Given the description of an element on the screen output the (x, y) to click on. 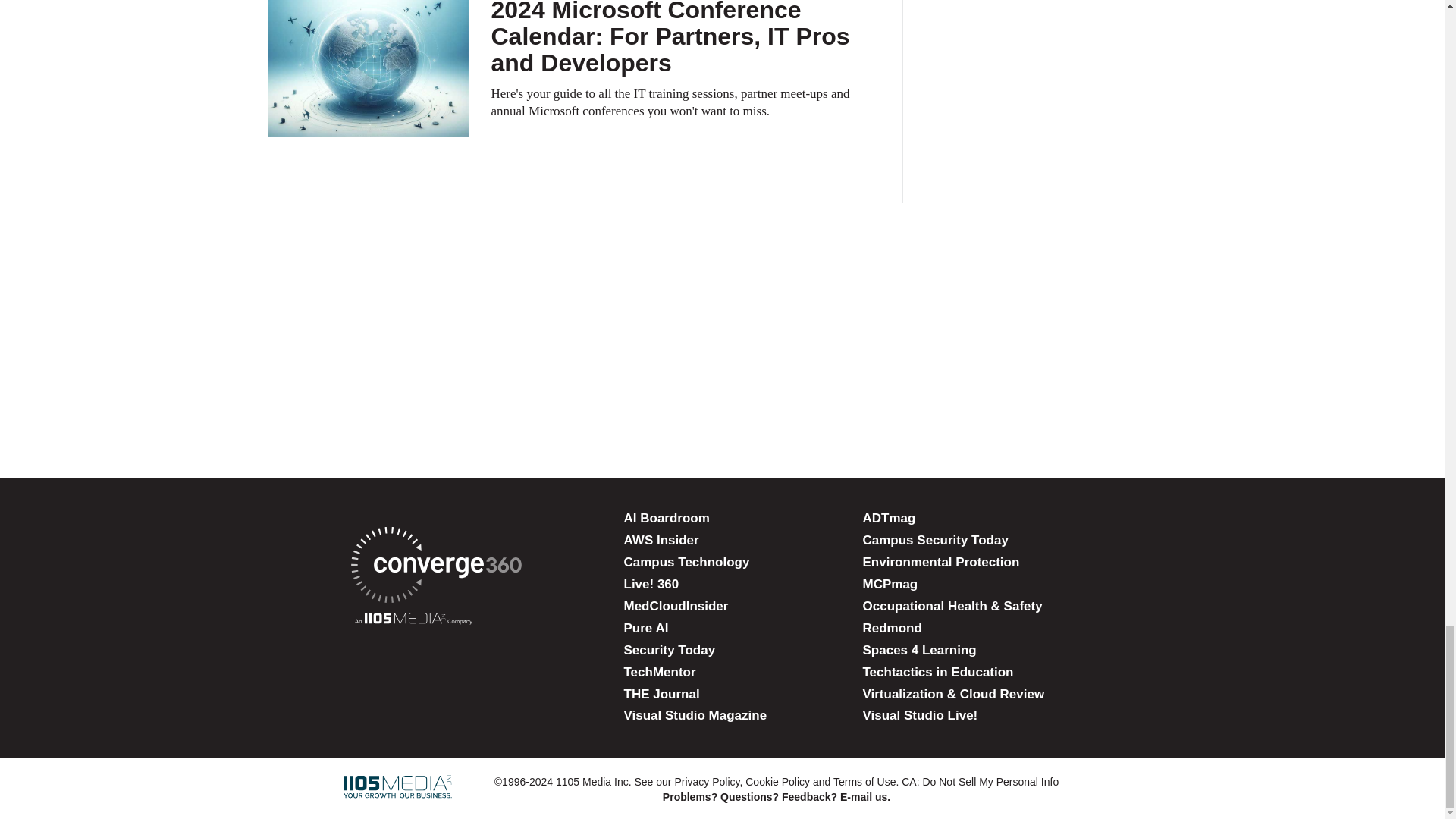
3rd party ad content (721, 287)
3rd party ad content (721, 386)
